Given the description of an element on the screen output the (x, y) to click on. 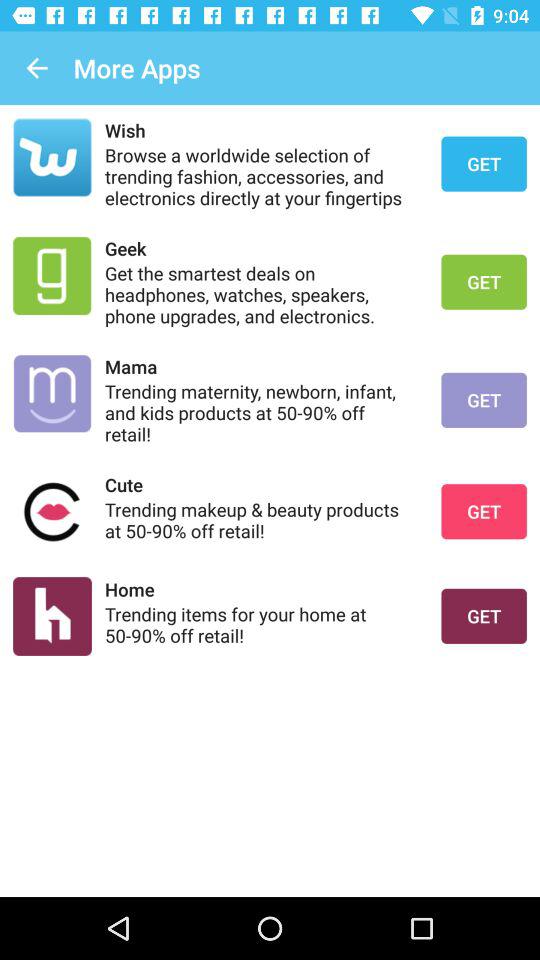
click icon below the geek icon (260, 294)
